Given the description of an element on the screen output the (x, y) to click on. 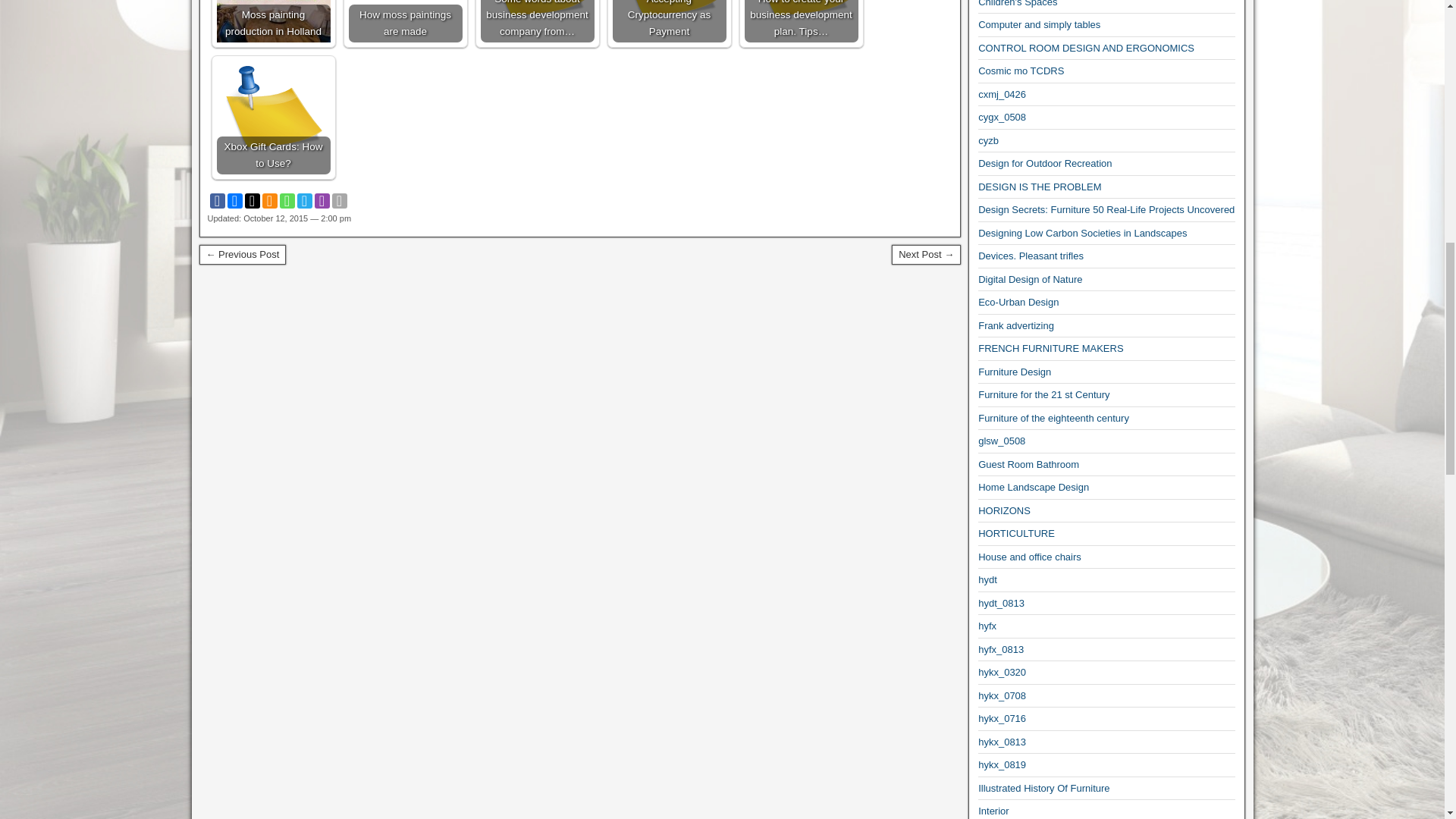
The Pros and Cons of Accepting Cryptocurrency as Payment (669, 21)
Cosmic mo TCDRS (1021, 70)
CONTROL ROOM DESIGN AND ERGONOMICS (1085, 48)
Xbox Gift Cards: How to Use? (273, 117)
Computer and simply tables (1039, 24)
How moss paintings are made (406, 21)
The Pros and Cons of Accepting Cryptocurrency as Payment (669, 21)
Xbox Gift Cards: How to Use? (273, 117)
Children's Spaces (1017, 3)
Moss painting production in Holland (273, 21)
Moss painting production in Holland (273, 21)
Landscape Perception (241, 254)
